Given the description of an element on the screen output the (x, y) to click on. 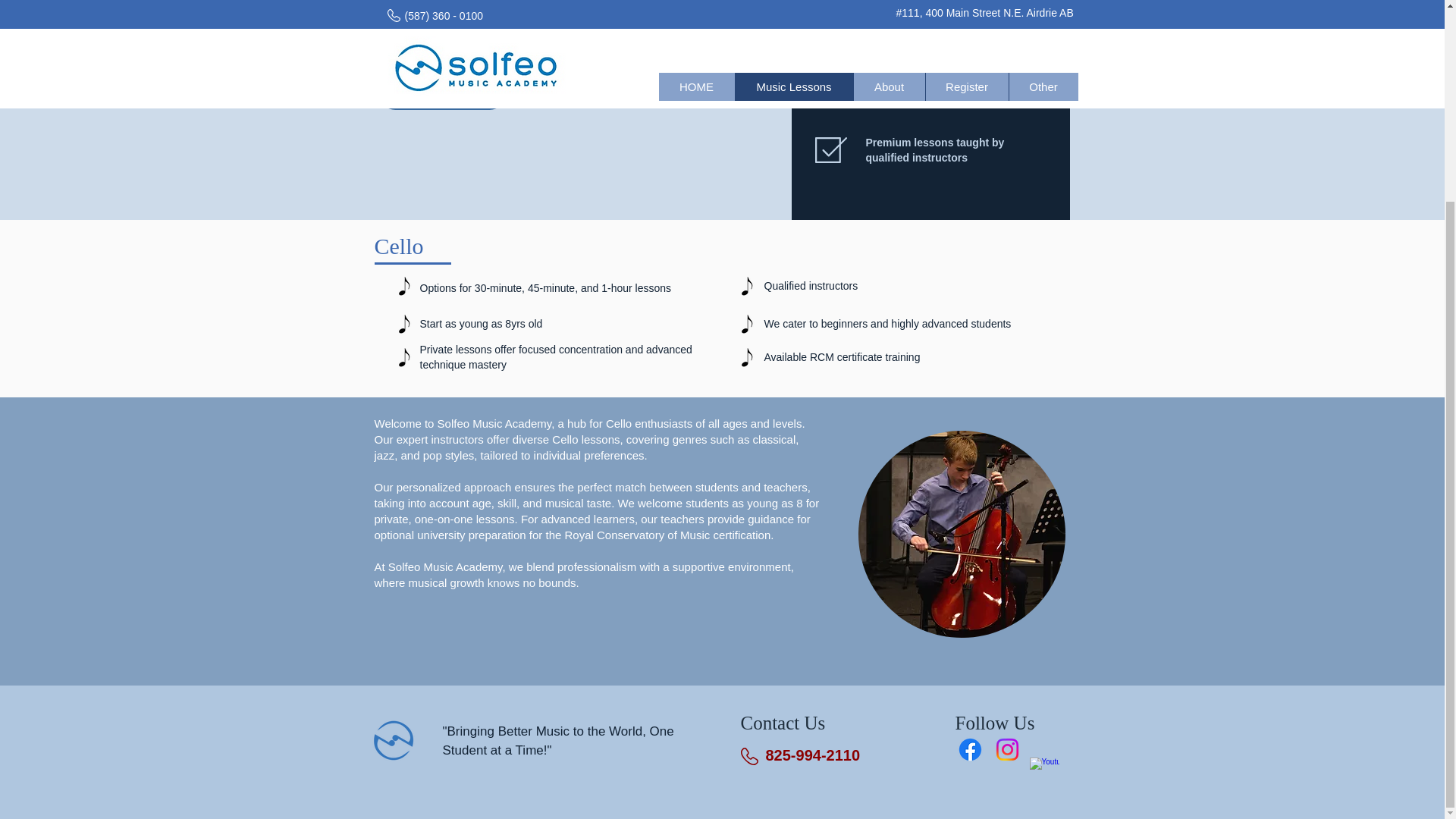
Solfeo.png (392, 740)
PerformanceCello.png (962, 534)
Register Now (441, 92)
